Given the description of an element on the screen output the (x, y) to click on. 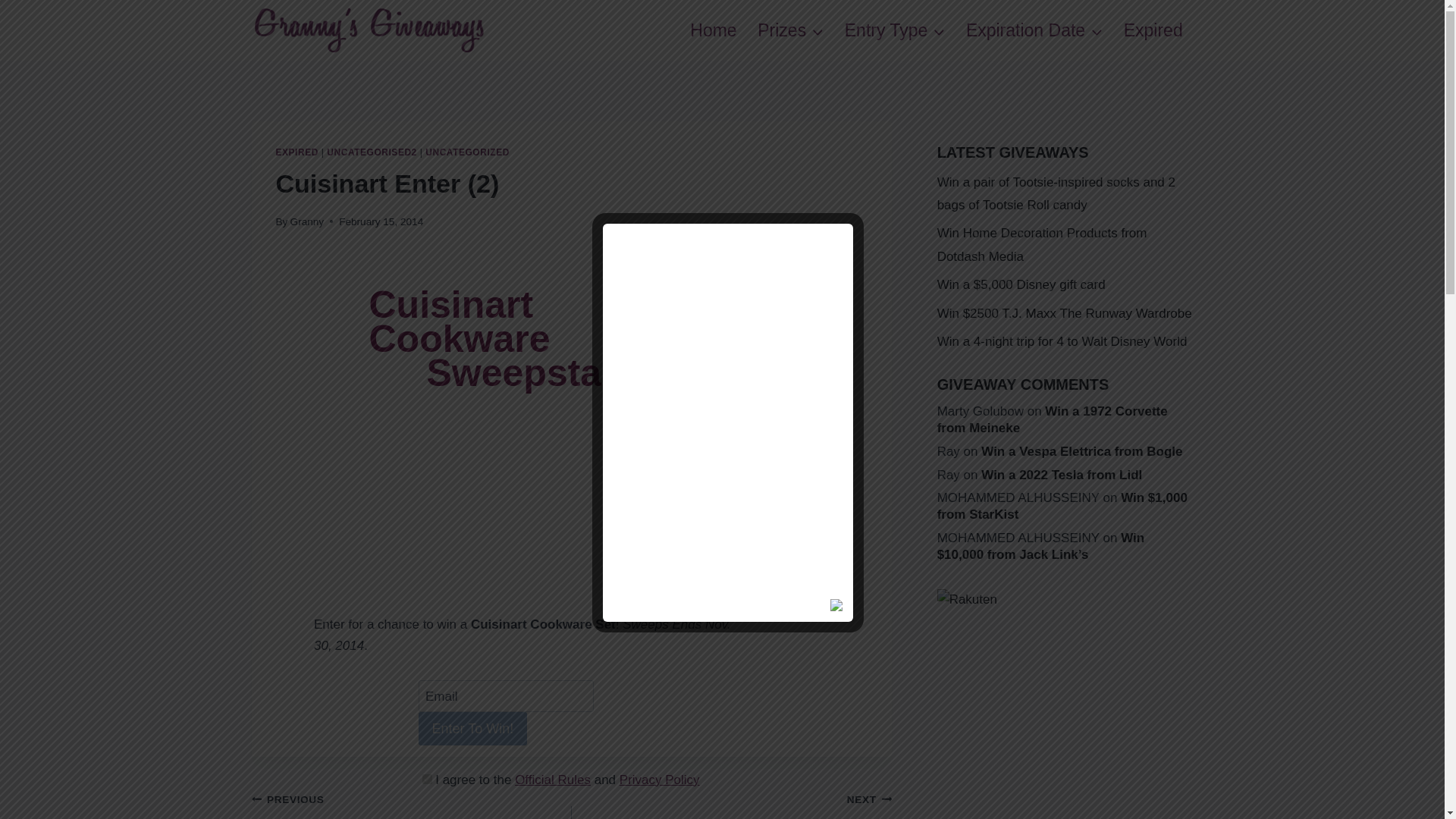
Home (712, 29)
agree (426, 778)
Expiration Date (1034, 29)
Entry Type (894, 29)
Email (506, 696)
Expired (1153, 29)
Prizes (790, 29)
Enter To Win! (473, 727)
Close (837, 606)
